Given the description of an element on the screen output the (x, y) to click on. 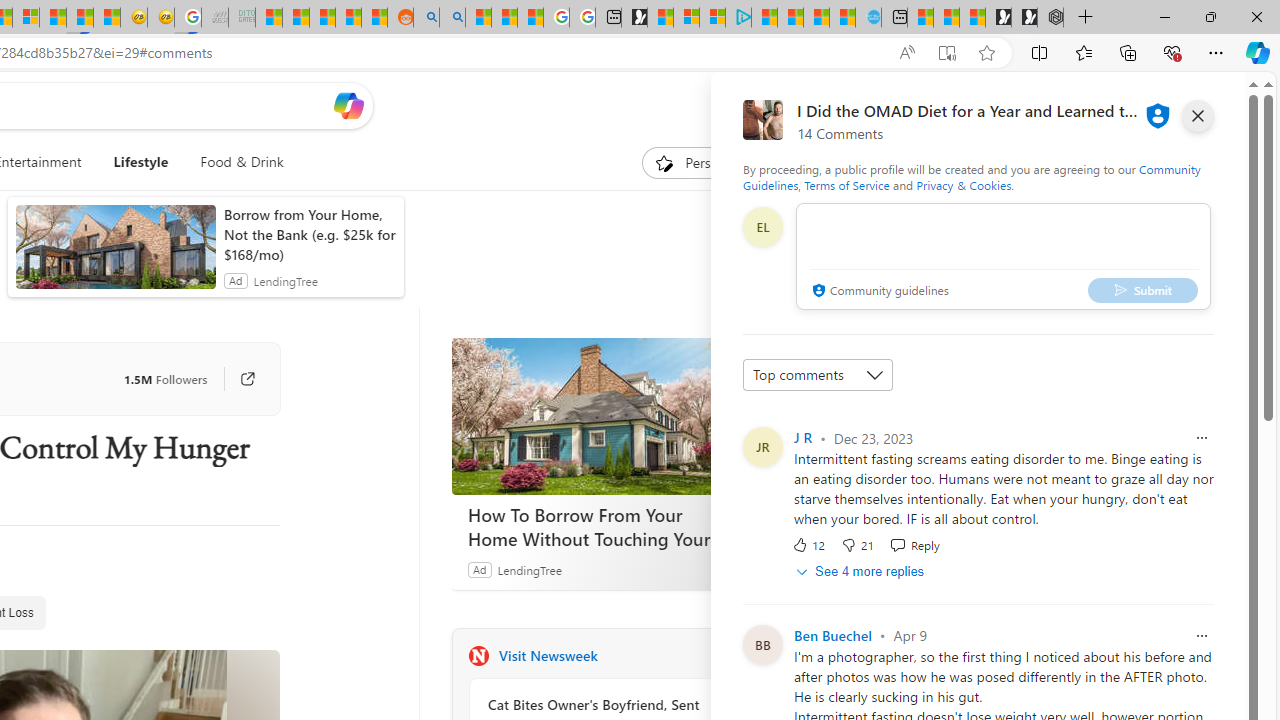
Ben Buechel (832, 634)
Community Guidelines (971, 176)
anim-content (115, 255)
Sort comments by (817, 374)
Borrow from Your Home, Not the Bank (e.g. $25k for $168/mo) (308, 234)
comment-box (1003, 256)
